Given the description of an element on the screen output the (x, y) to click on. 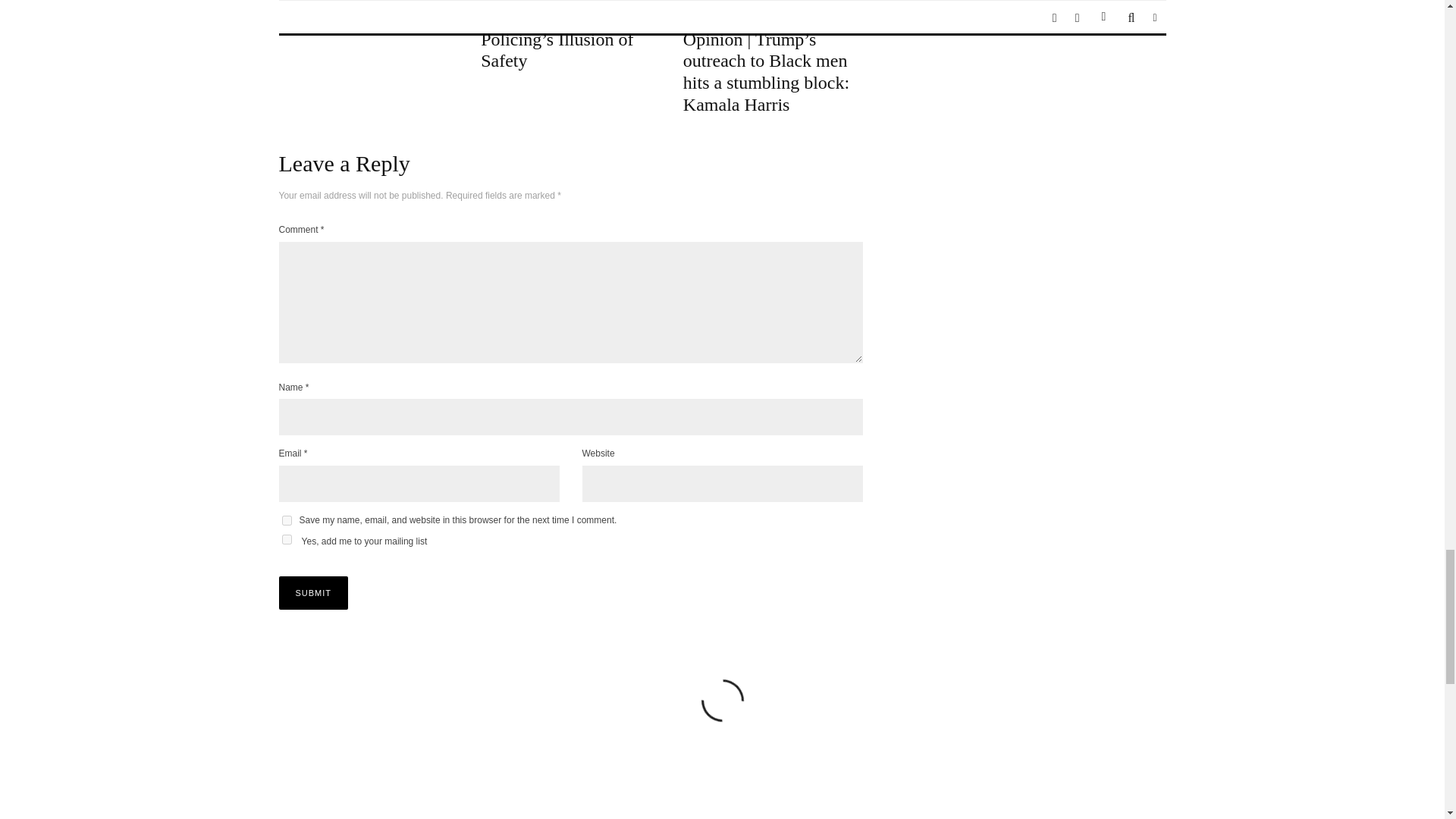
Submit (314, 592)
1 (287, 539)
yes (287, 520)
